Given the description of an element on the screen output the (x, y) to click on. 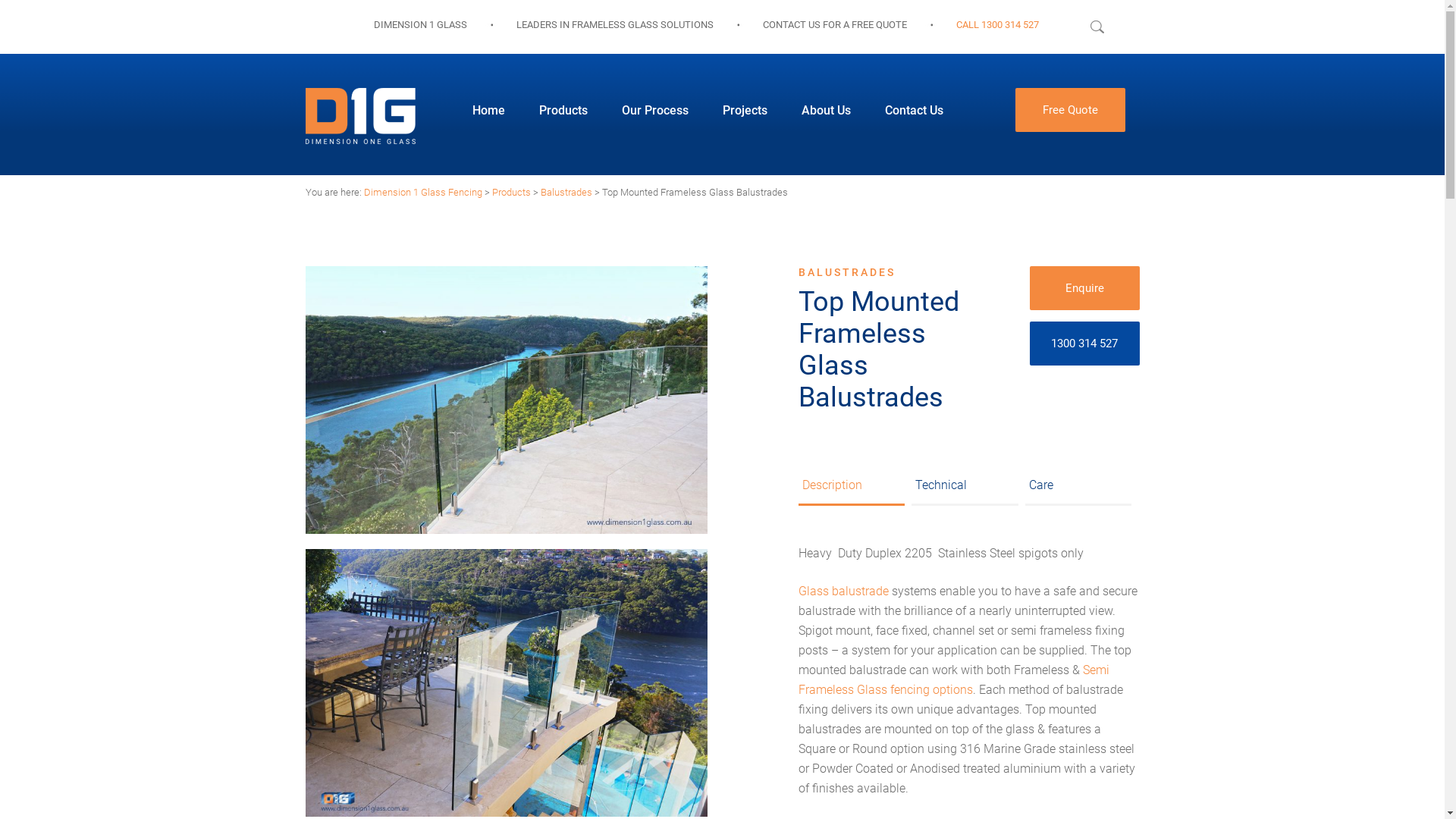
Projects Element type: text (743, 110)
About Us Element type: text (825, 110)
Balustrades Element type: text (565, 191)
Free Quote Element type: text (1069, 109)
CONTACT US FOR A FREE QUOTE Element type: text (834, 24)
LEADERS IN FRAMELESS GLASS SOLUTIONS Element type: text (613, 24)
Home Element type: text (487, 110)
Products Element type: text (562, 110)
Semi Frameless Glass fencing options Element type: text (952, 679)
Our Process Element type: text (654, 110)
CALL 1300 314 527 Element type: text (996, 24)
Glass balustrade Element type: text (842, 590)
Enquire Element type: text (1084, 288)
Contact Us Element type: text (913, 110)
Products Element type: text (510, 191)
1300 314 527 Element type: text (1084, 343)
DIMENSION 1 GLASS Element type: text (419, 24)
Dimension 1 Glass Fencing Element type: text (423, 191)
